Given the description of an element on the screen output the (x, y) to click on. 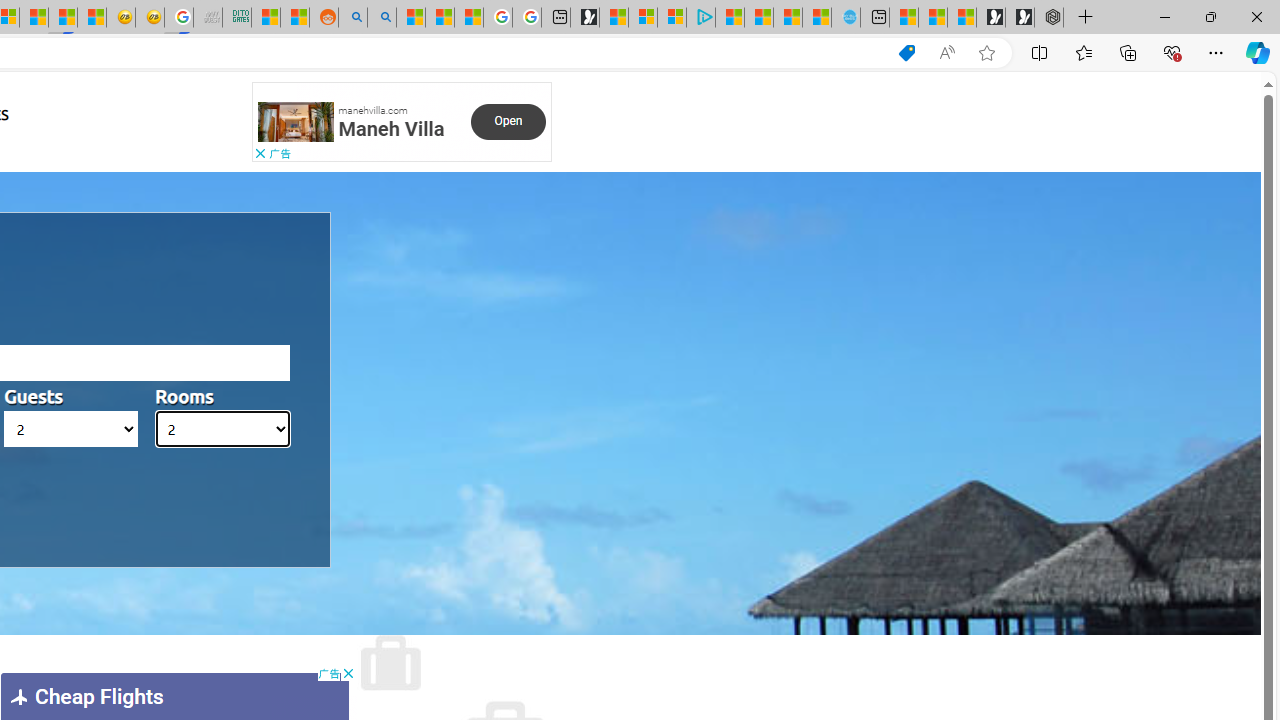
AutomationID: hotels_passengers (71, 429)
